Given the description of an element on the screen output the (x, y) to click on. 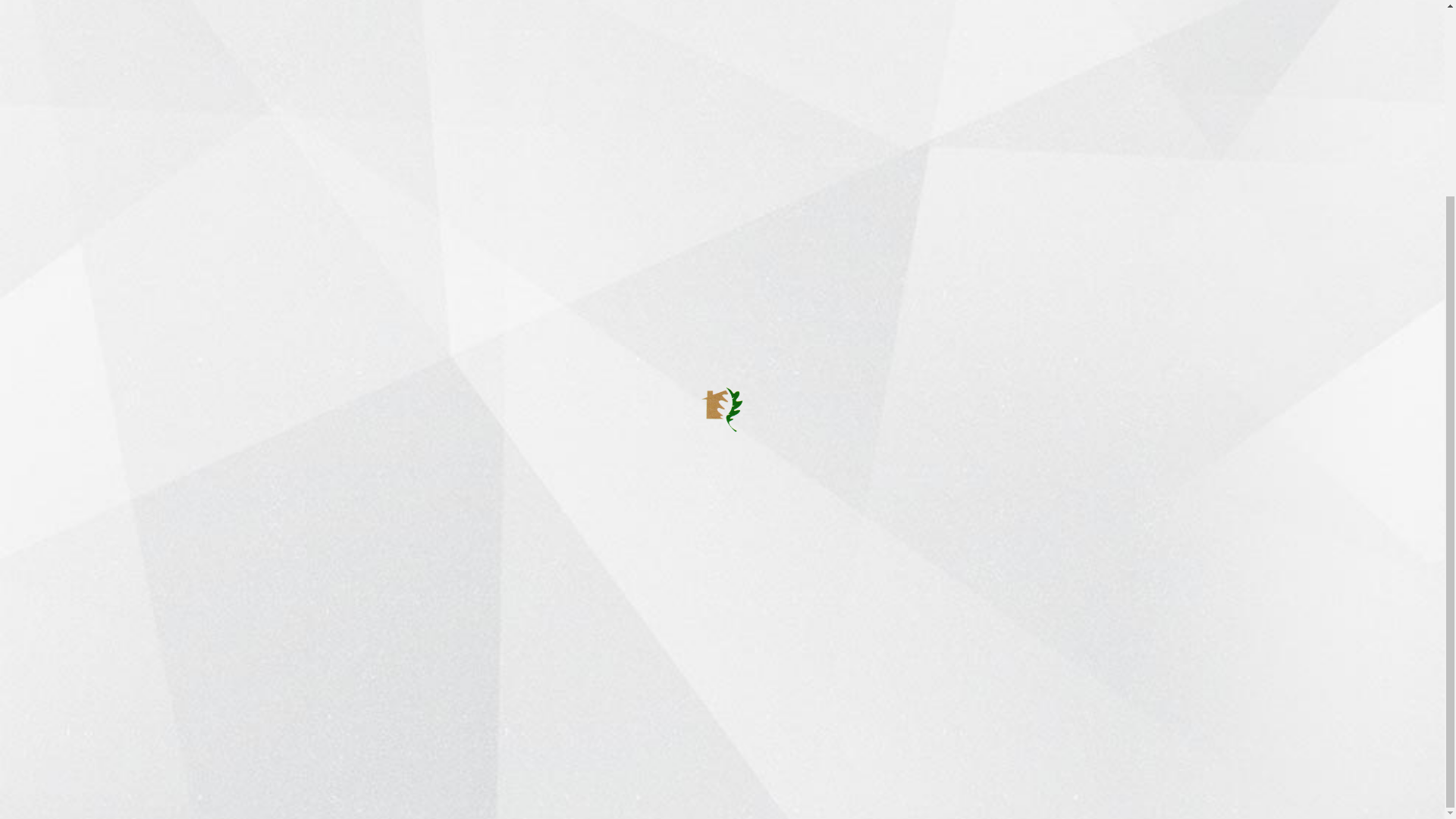
Visitors (622, 615)
Our Projects (635, 537)
This site is developed by Debug BD Ltd. (431, 785)
Our Services (636, 563)
Contact Us (1190, 785)
Publications (634, 589)
theigc.org (423, 381)
